Given the description of an element on the screen output the (x, y) to click on. 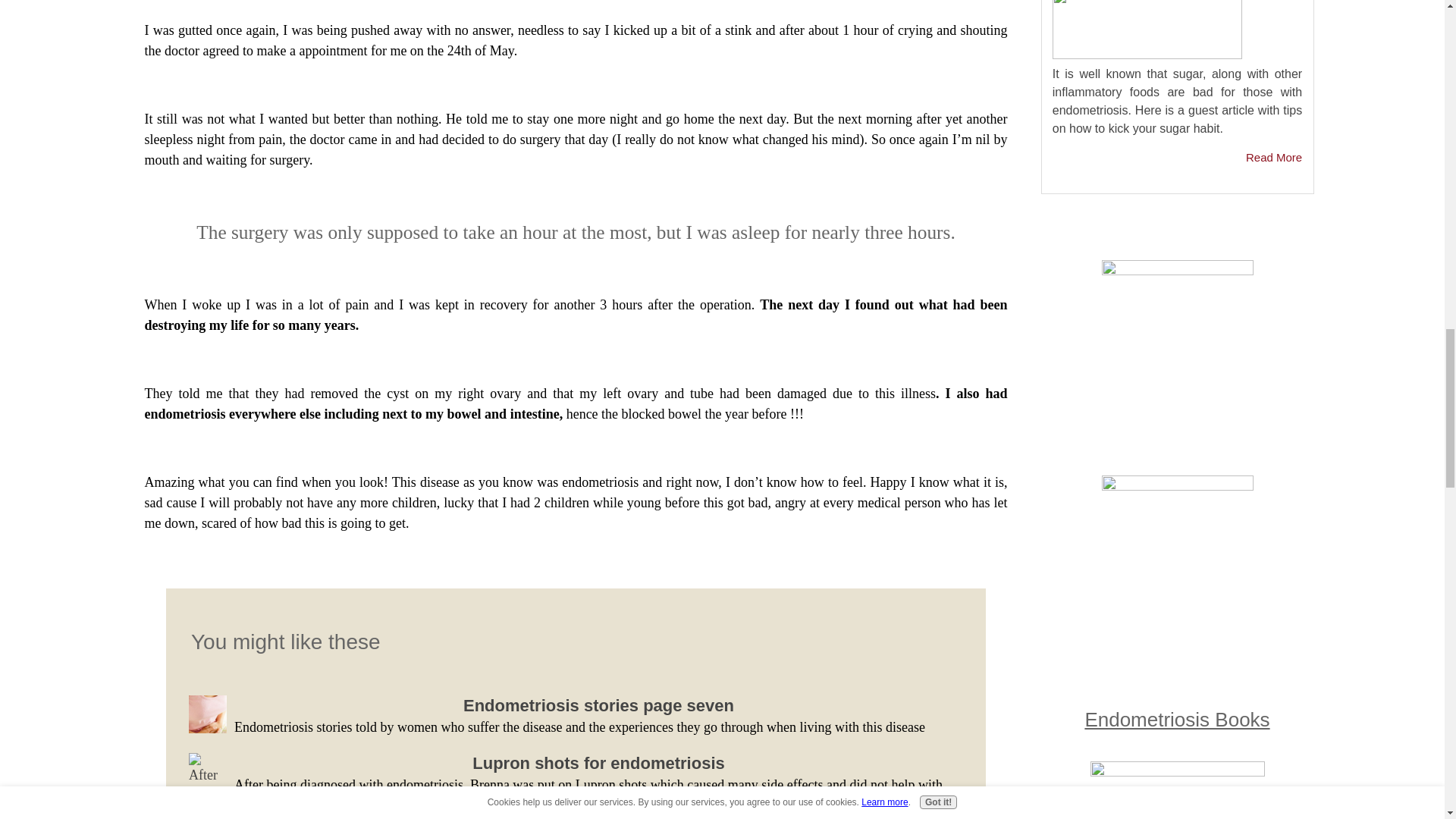
Endometriosis stories page seven (598, 705)
Lupron shots for endometriosis (597, 763)
Go to Healing endometriosis naturally book (1177, 771)
